Given the description of an element on the screen output the (x, y) to click on. 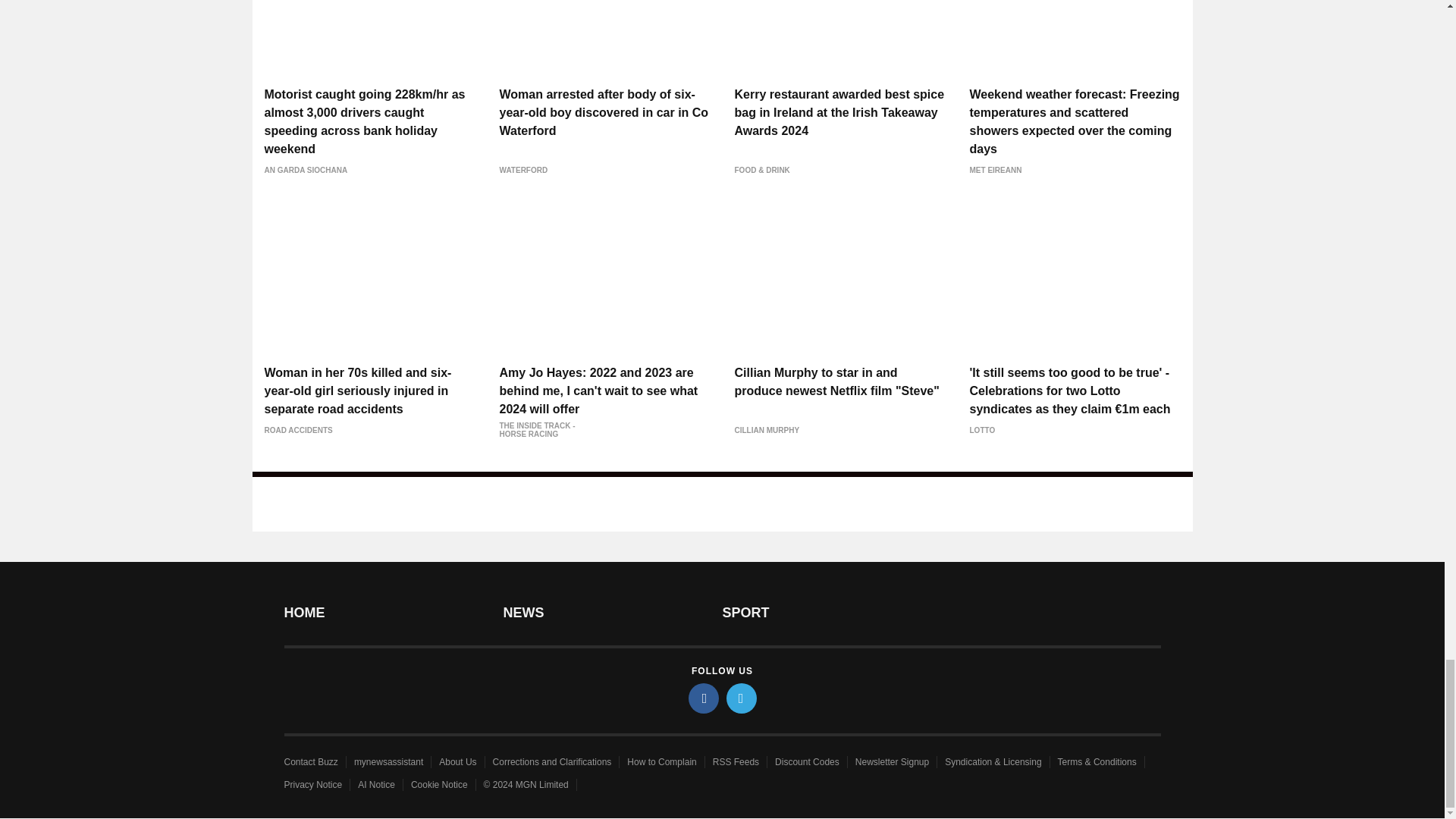
facebook (703, 698)
twitter (741, 698)
